Given the description of an element on the screen output the (x, y) to click on. 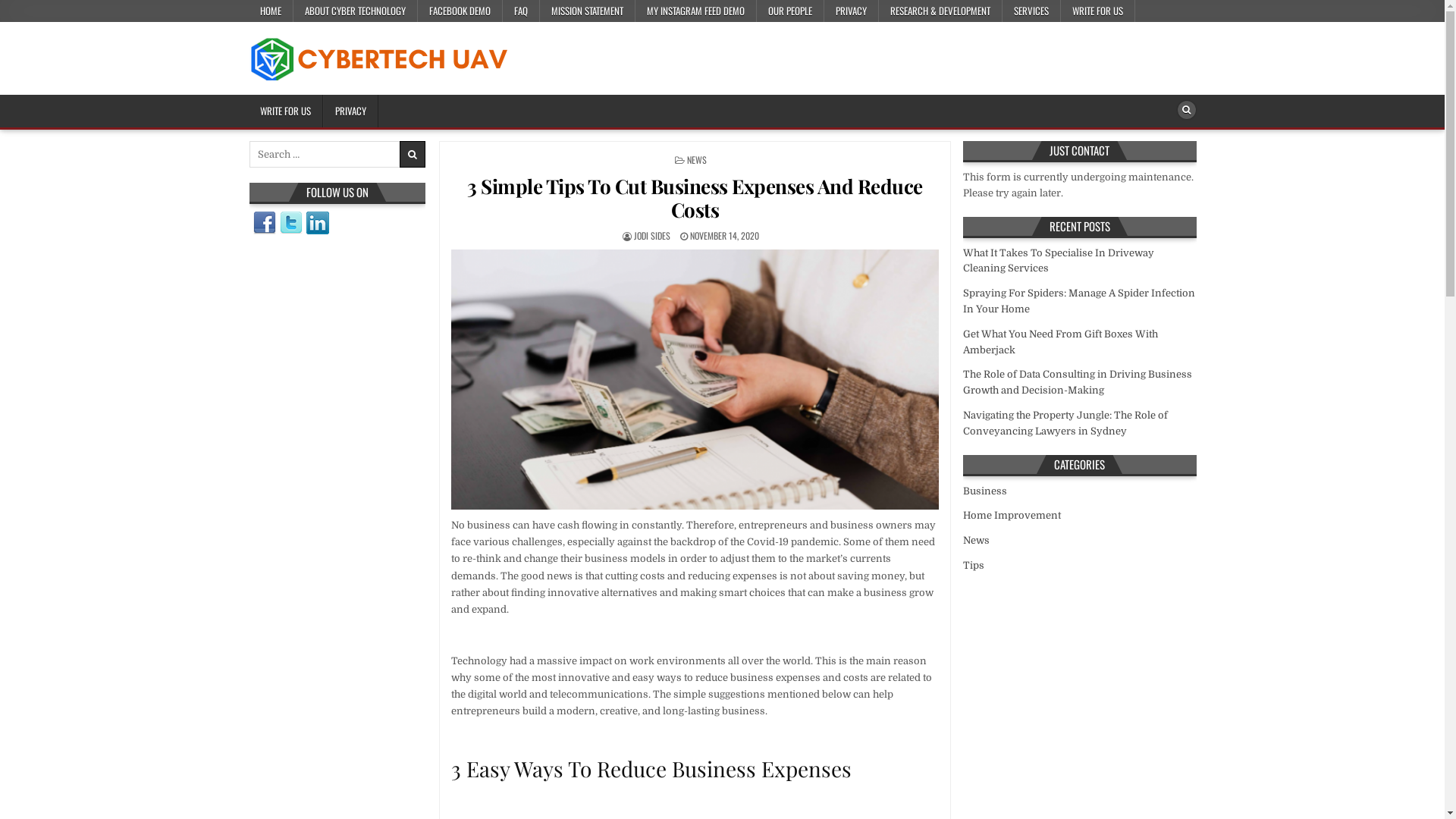
MY INSTAGRAM FEED DEMO Element type: text (695, 10)
RESEARCH & DEVELOPMENT Element type: text (939, 10)
NEWS Element type: text (696, 159)
What It Takes To Specialise In Driveway Cleaning Services Element type: text (1058, 260)
Home Improvement Element type: text (1011, 514)
News Element type: text (976, 540)
HOME Element type: text (270, 10)
Spraying For Spiders: Manage A Spider Infection In Your Home Element type: text (1079, 300)
MISSION STATEMENT Element type: text (587, 10)
AUTHOR:
JODI SIDES Element type: text (651, 235)
SERVICES Element type: text (1031, 10)
ABOUT CYBER TECHNOLOGY Element type: text (354, 10)
Tips Element type: text (973, 565)
FAQ Element type: text (520, 10)
Get What You Need From Gift Boxes With Amberjack Element type: text (1060, 341)
WRITE FOR US Element type: text (1097, 10)
FACEBOOK DEMO Element type: text (459, 10)
Search Element type: hover (1185, 109)
OUR PEOPLE Element type: text (790, 10)
WRITE FOR US Element type: text (285, 110)
Business Element type: text (985, 490)
PRIVACY Element type: text (850, 10)
3 Simple Tips To Cut Business Expenses And Reduce Costs Element type: text (694, 197)
PRIVACY Element type: text (350, 110)
